Given the description of an element on the screen output the (x, y) to click on. 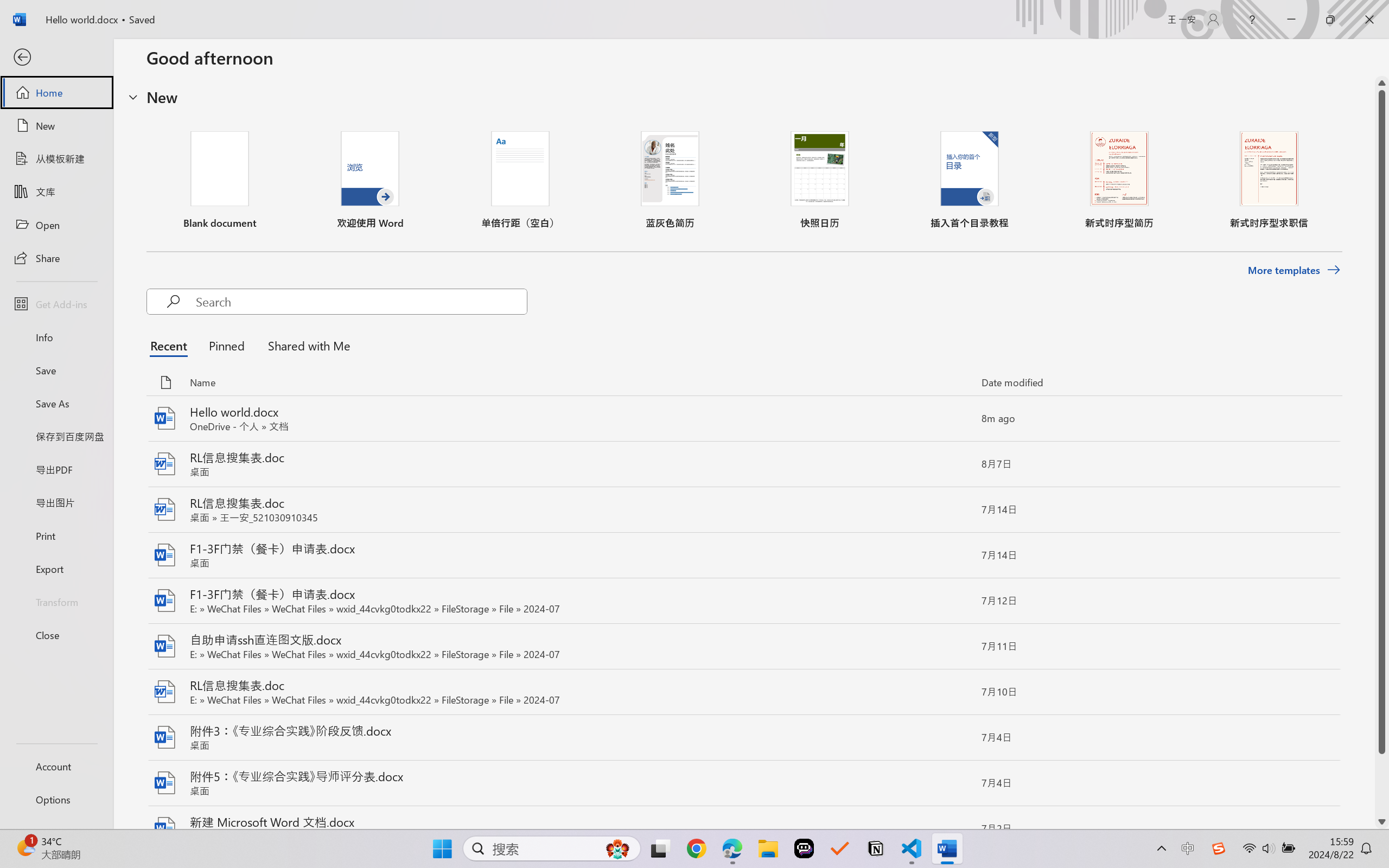
Page down (1382, 784)
Pin this item to the list (954, 828)
Back (56, 57)
More templates (1293, 270)
Line down (1382, 821)
AutomationID: DynamicSearchBoxGleamImage (617, 848)
Hello world.docx (743, 418)
